Given the description of an element on the screen output the (x, y) to click on. 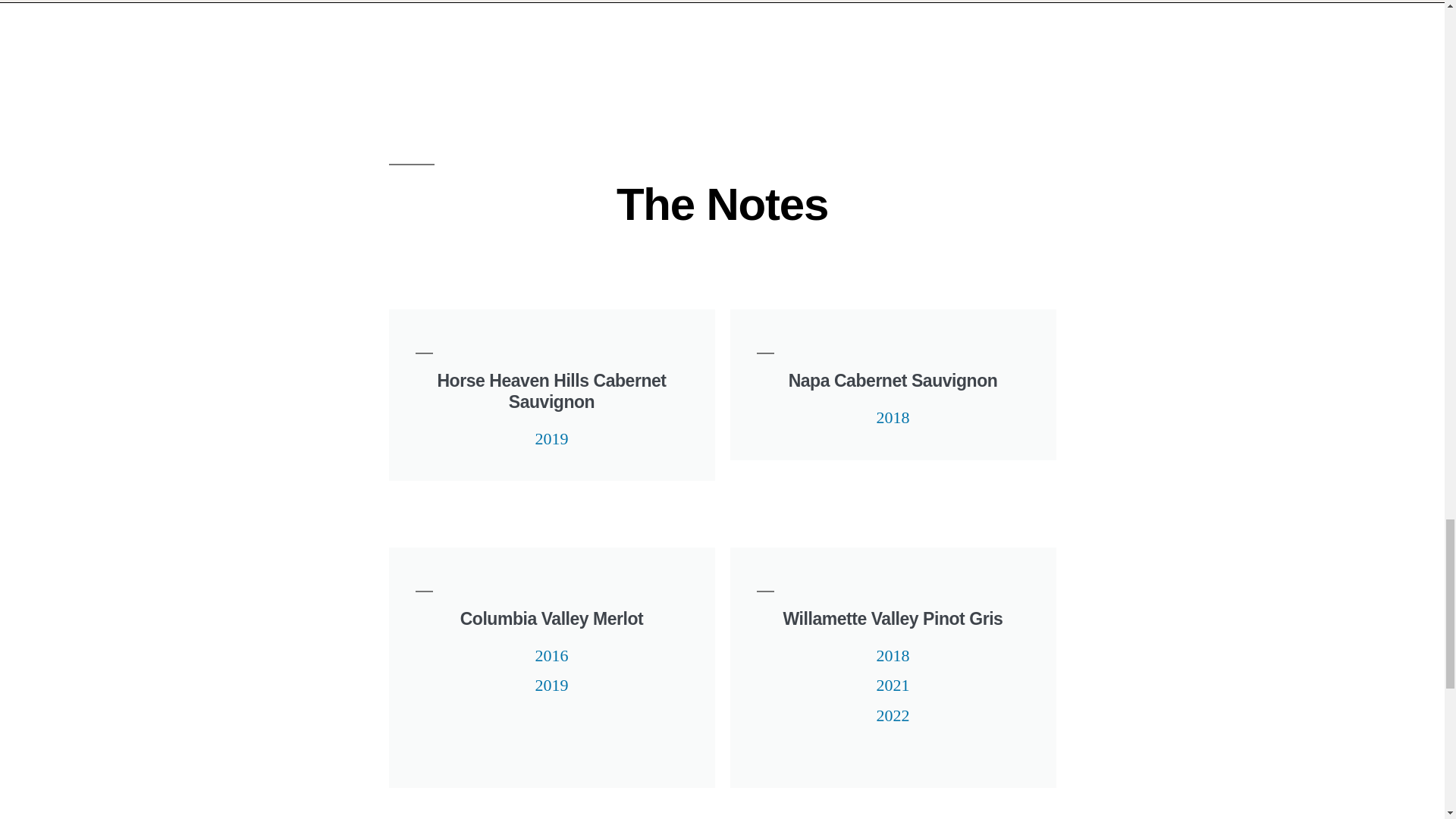
2022 (893, 715)
2018 (893, 655)
2021 (893, 685)
2018 (893, 417)
2016 (552, 655)
2019 (552, 685)
2019 (552, 438)
